Given the description of an element on the screen output the (x, y) to click on. 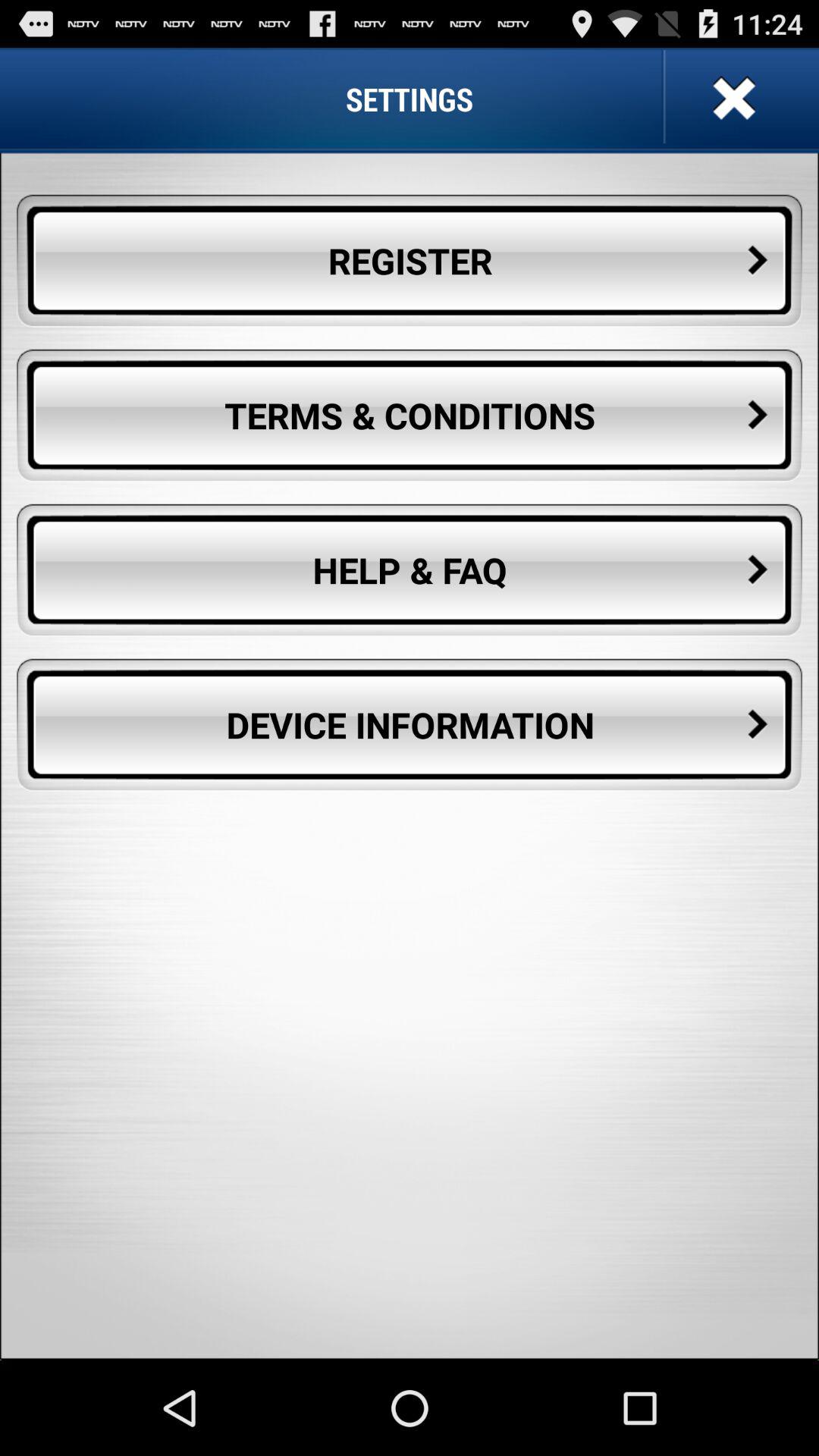
open button above help & faq (409, 415)
